Given the description of an element on the screen output the (x, y) to click on. 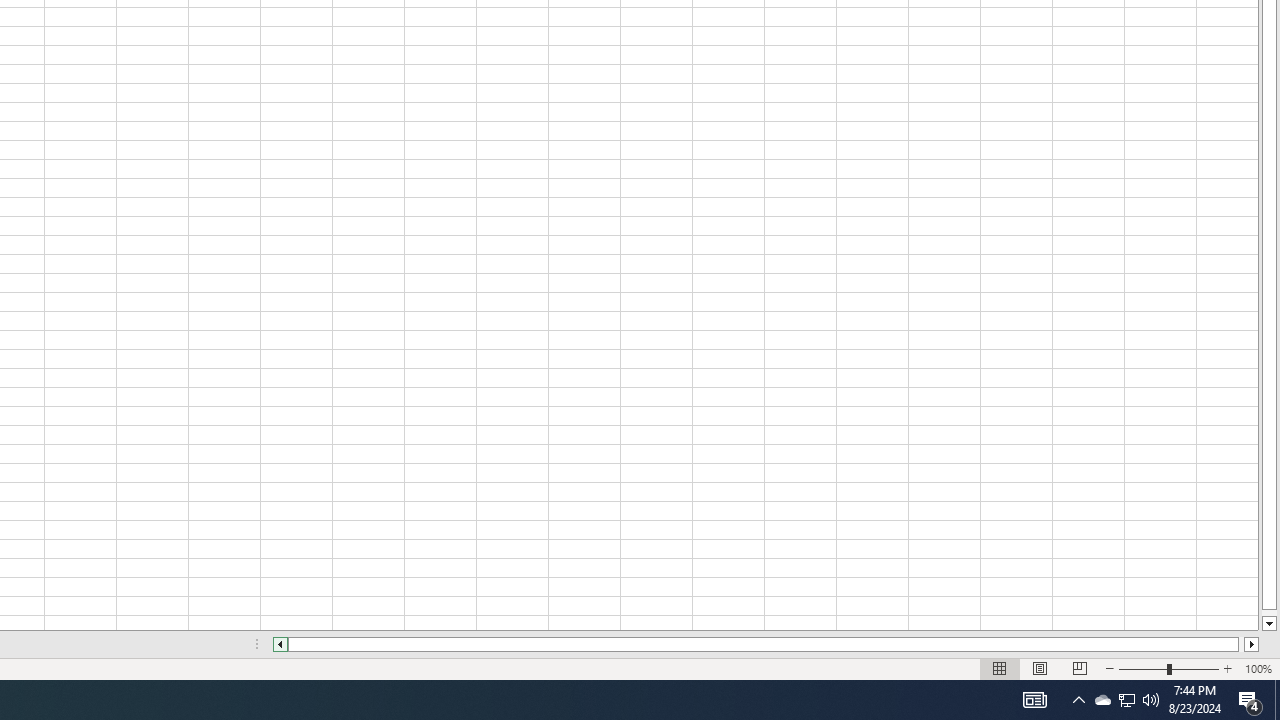
Zoom (1168, 668)
Page down (1268, 612)
Page Break Preview (1079, 668)
Class: NetUIScrollBar (765, 644)
Line down (1268, 624)
Zoom Out (1142, 668)
Column left (279, 644)
Page right (1241, 644)
Column right (1252, 644)
Normal (1000, 668)
Zoom In (1227, 668)
